Given the description of an element on the screen output the (x, y) to click on. 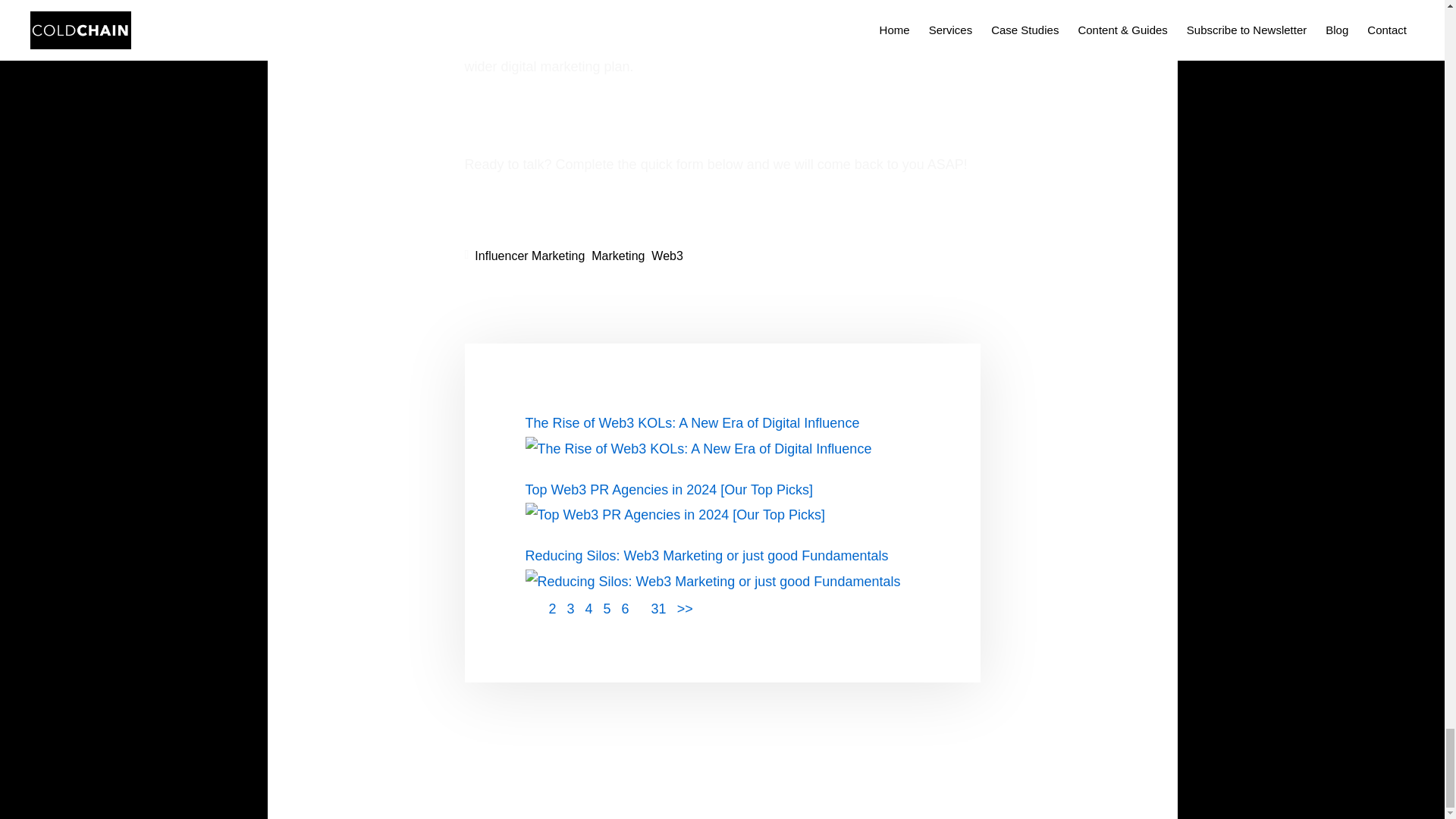
31 (658, 608)
The Rise of Web3 KOLs: A New Era of Digital Influence (691, 422)
2 (685, 608)
The Rise of Web3 KOLs: A New Era of Digital Influence (697, 448)
Reducing Silos: Web3 Marketing or just good Fundamentals (706, 555)
Marketing (618, 255)
Reducing Silos: Web3 Marketing or just good Fundamentals (711, 581)
Influencer Marketing (529, 255)
Web3 (666, 255)
